Given the description of an element on the screen output the (x, y) to click on. 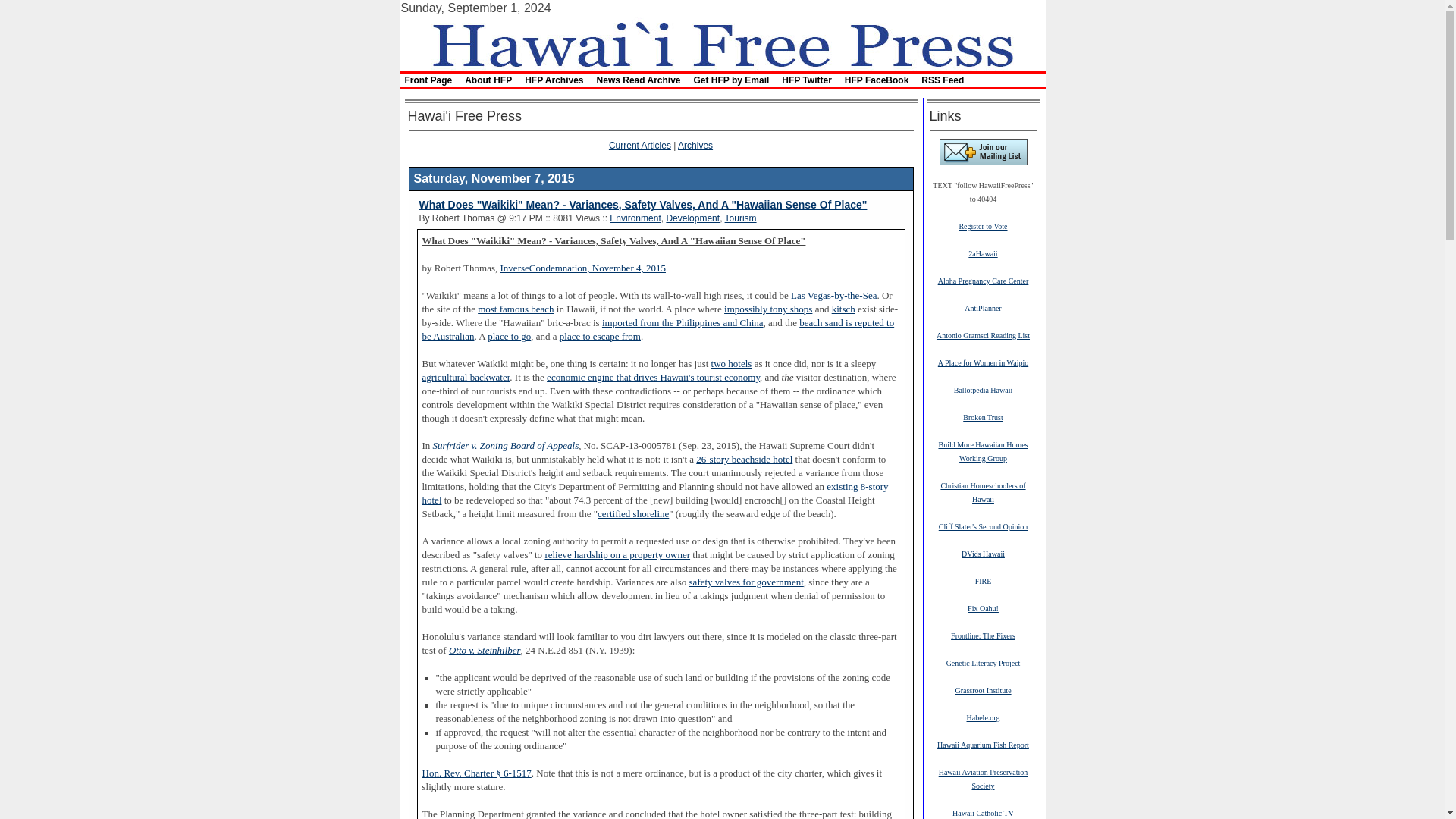
AntiPlanner (982, 307)
2aHawaii (982, 253)
Aloha Pregnancy Care Center (983, 280)
relieve hardship on a property owner (617, 554)
most famous beach (515, 308)
InverseCondemnation, November 4, 2015 (582, 267)
existing 8-story hotel (655, 493)
Environment (635, 217)
Otto v. Steinhilber (484, 650)
